Given the description of an element on the screen output the (x, y) to click on. 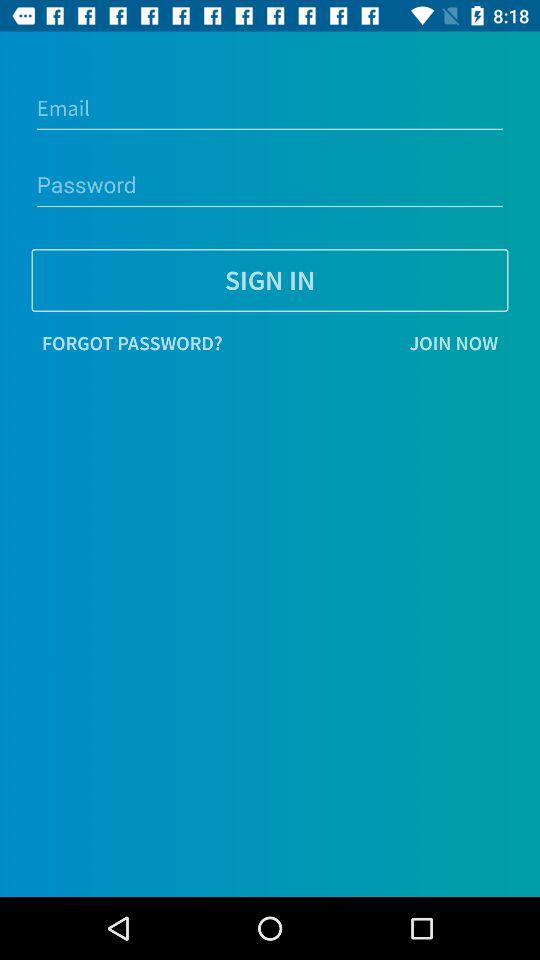
open icon to the left of the join now icon (132, 343)
